Given the description of an element on the screen output the (x, y) to click on. 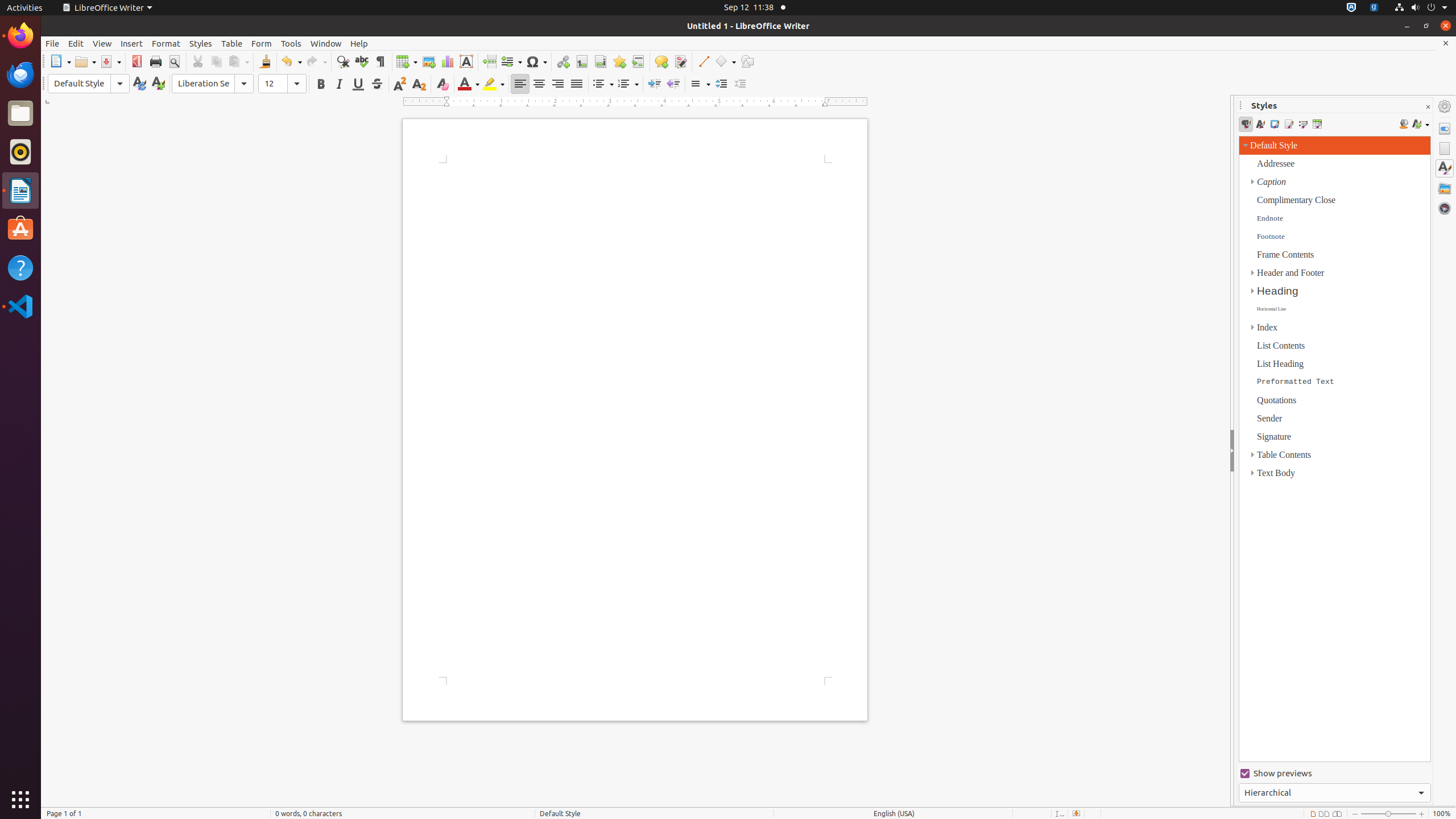
Find & Replace Element type: toggle-button (342, 61)
Show Applications Element type: toggle-button (20, 799)
Line Spacing Element type: push-button (699, 83)
Print Element type: push-button (155, 61)
Superscript Element type: toggle-button (399, 83)
